Given the description of an element on the screen output the (x, y) to click on. 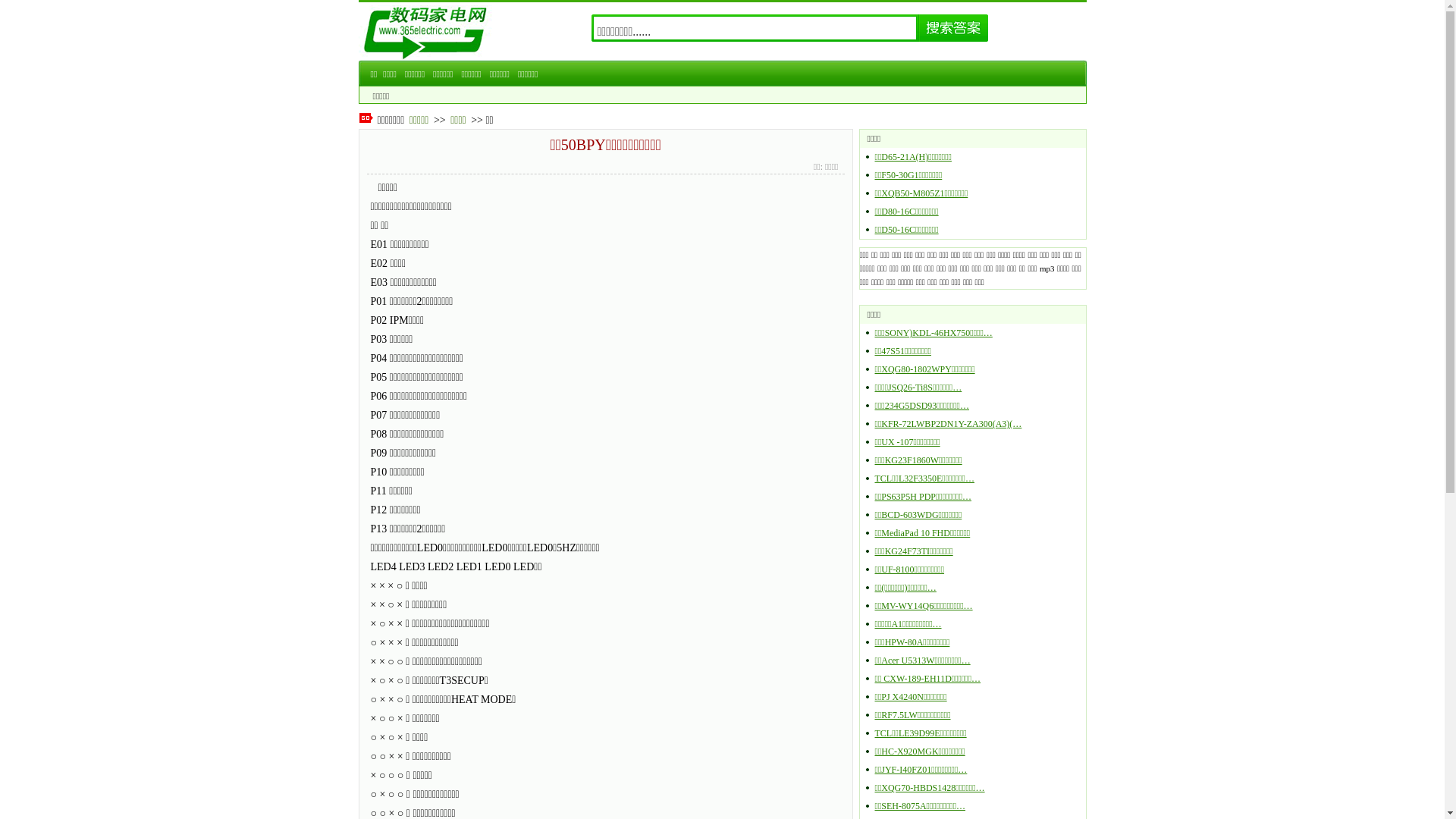
mp3 Element type: text (1046, 267)
